Given the description of an element on the screen output the (x, y) to click on. 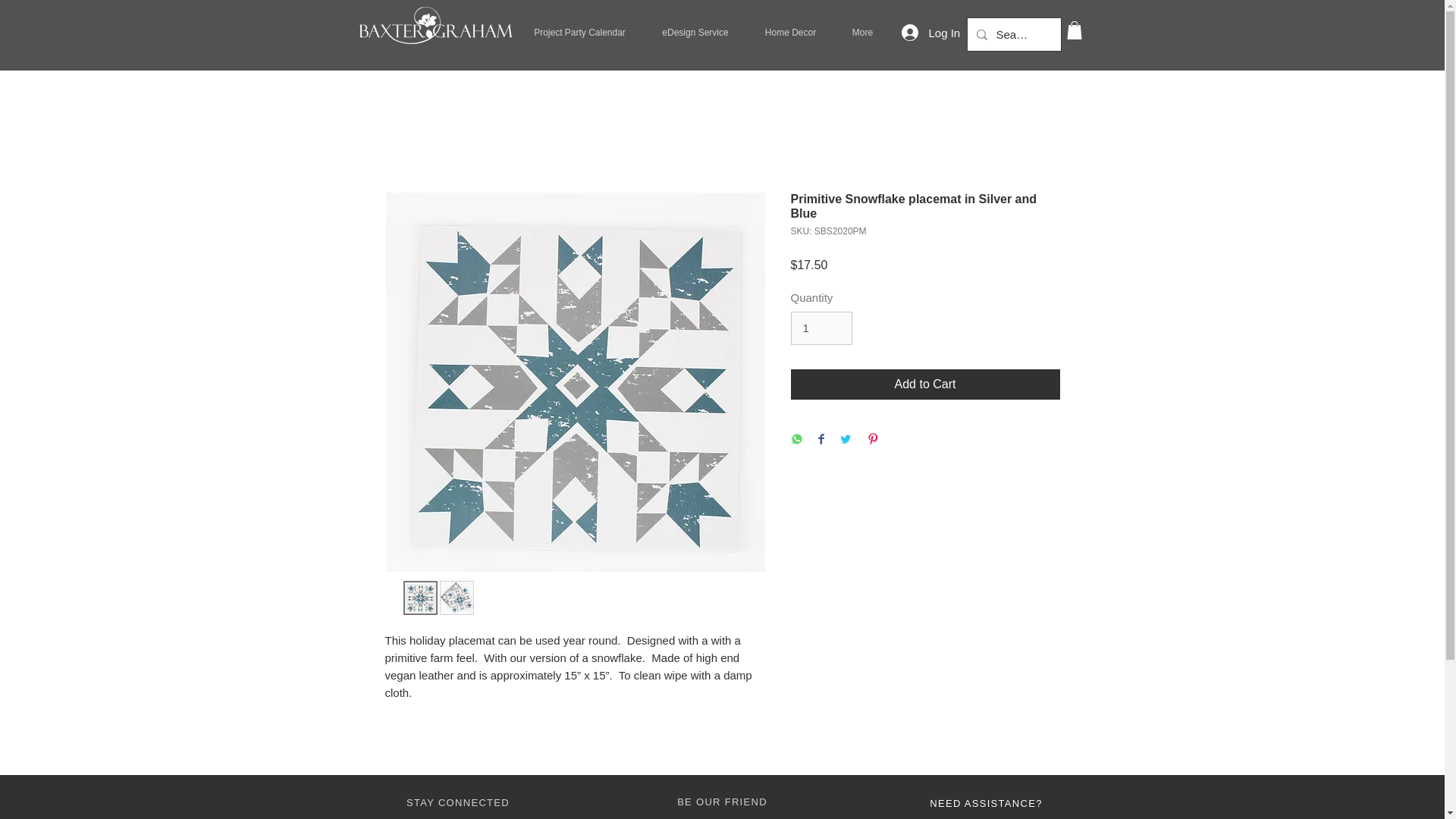
Add to Cart (924, 384)
Log In (916, 32)
Home Decor (789, 32)
eDesign Service (695, 32)
Project Party Calendar (580, 32)
1 (820, 328)
